Given the description of an element on the screen output the (x, y) to click on. 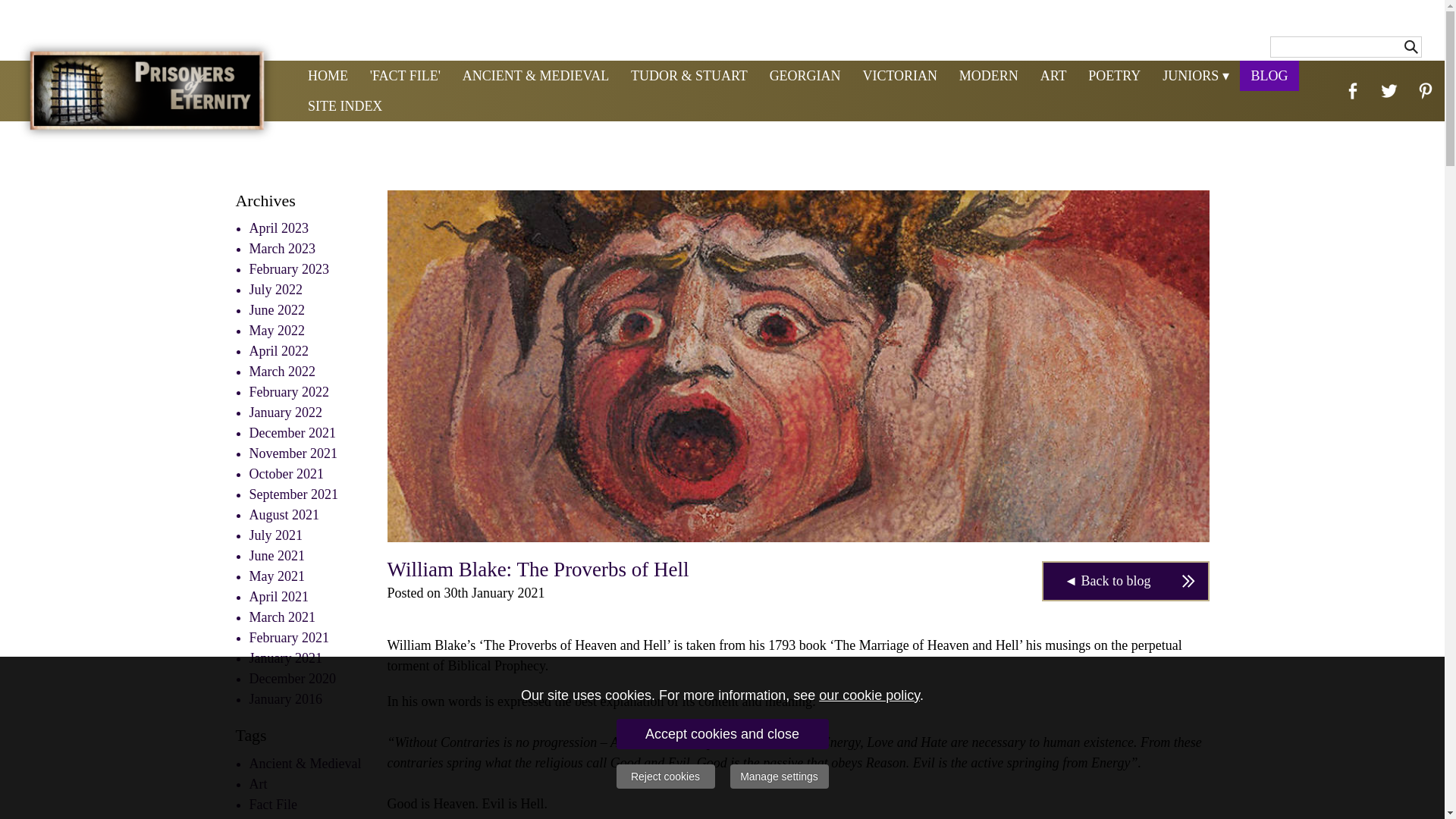
June 2022 (276, 309)
MODERN (988, 75)
GEORGIAN (804, 75)
ART (1053, 75)
July 2022 (275, 289)
April 2023 (278, 227)
Back to blog (1125, 581)
February 2023 (288, 268)
VICTORIAN (899, 75)
SITE INDEX (345, 105)
March 2023 (281, 248)
JUNIORS (1195, 75)
BLOG (1269, 75)
May 2022 (276, 330)
HOME (328, 75)
